Given the description of an element on the screen output the (x, y) to click on. 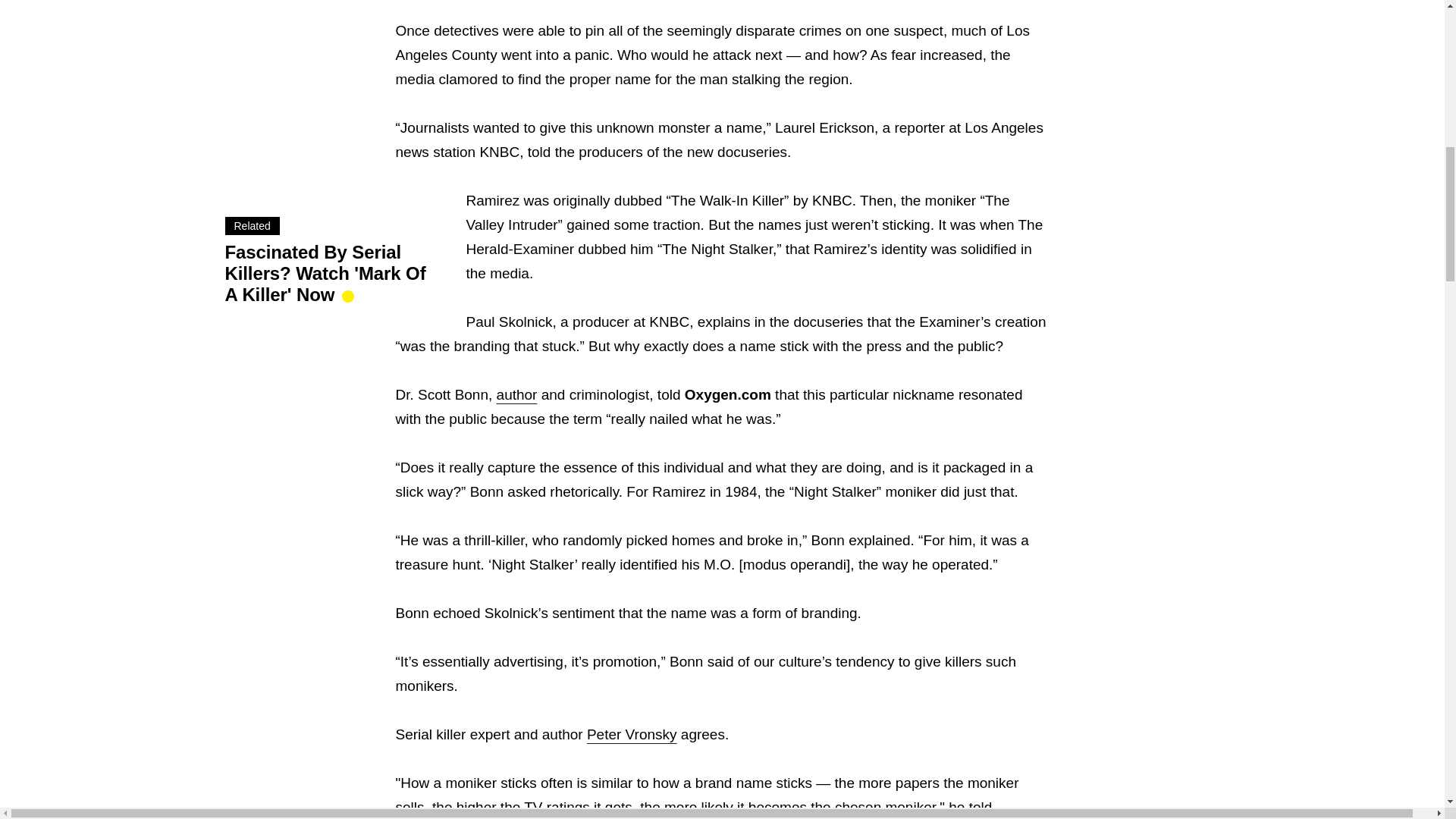
Peter Vronsky (631, 734)
author (516, 394)
